Given the description of an element on the screen output the (x, y) to click on. 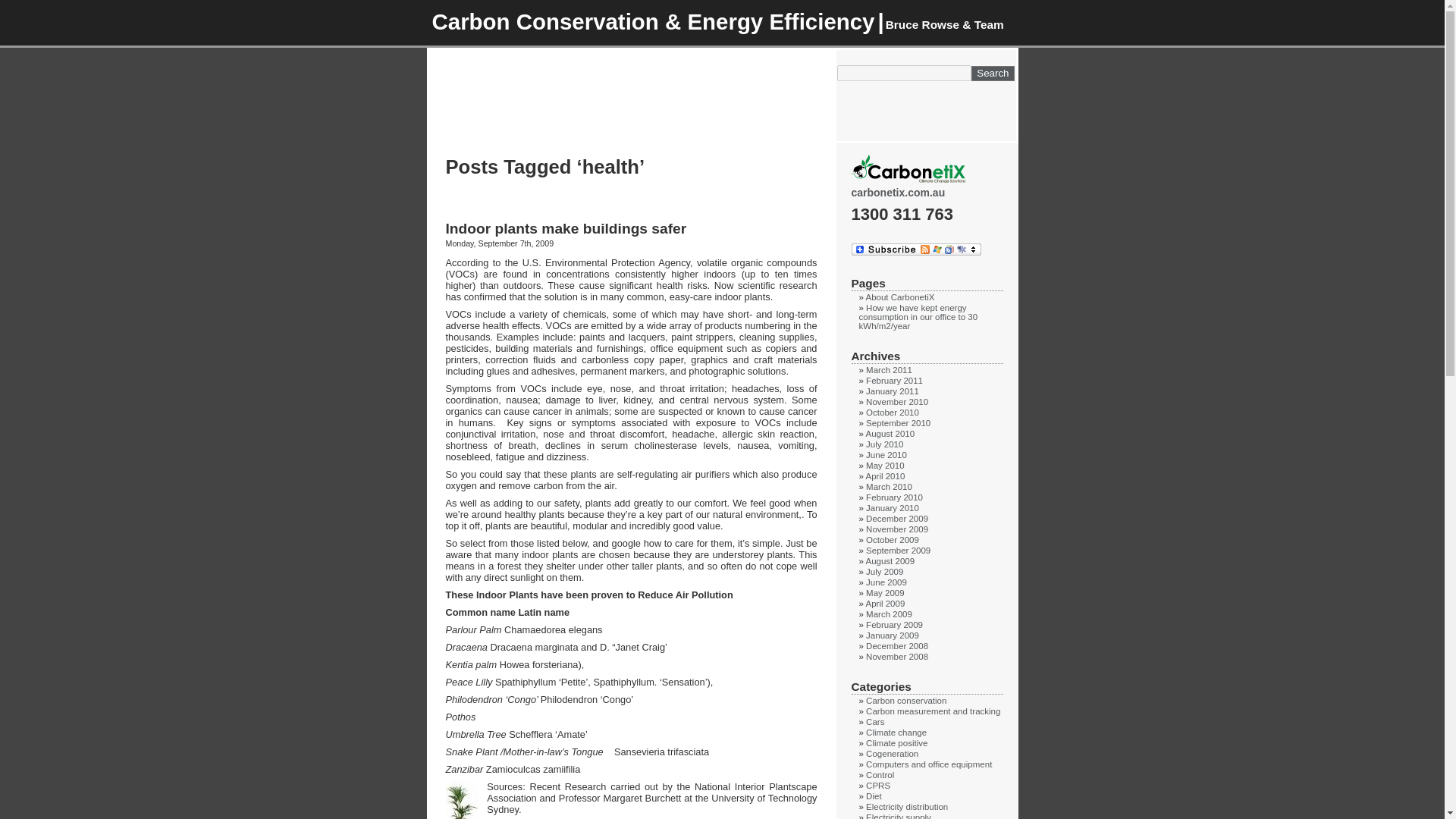
Permanent Link to Indoor plants make buildings safer (566, 228)
November 2009 (897, 528)
November 2010 (897, 401)
December 2009 (897, 518)
About CarbonetiX (899, 297)
March 2011 (889, 369)
August 2009 (889, 560)
November 2010 (897, 401)
Search (992, 72)
May 2010 (885, 465)
February 2010 (894, 497)
Search (992, 72)
June 2009 (886, 582)
February 2011 (894, 379)
August 2010 (889, 433)
